Given the description of an element on the screen output the (x, y) to click on. 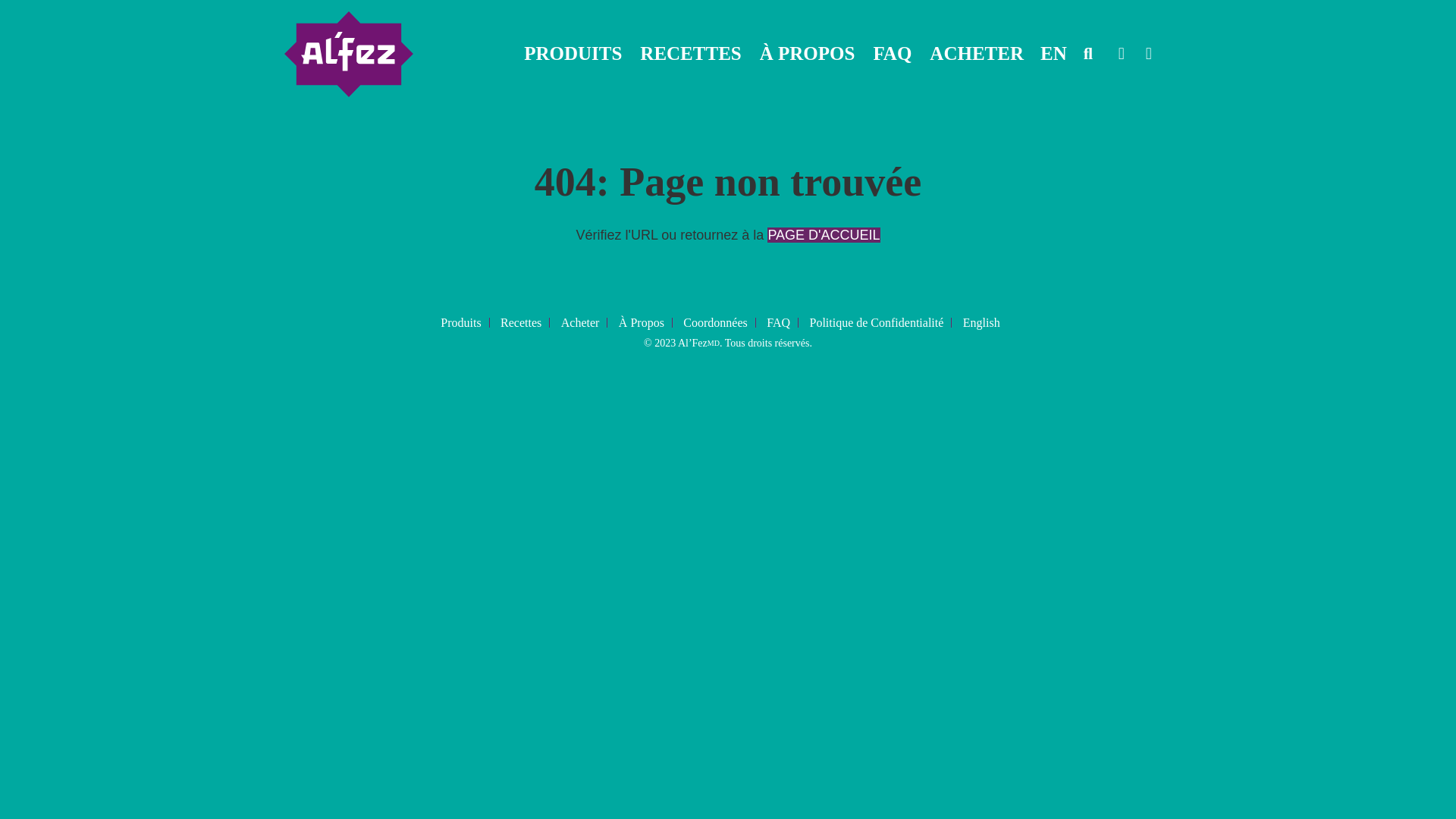
FAQ Element type: text (782, 322)
Acheter Element type: text (584, 322)
RECETTES Element type: text (689, 53)
PRODUITS Element type: text (572, 53)
English Element type: text (985, 322)
PAGE D'ACCUEIL Element type: text (823, 234)
EN Element type: text (1053, 53)
FAQ Element type: text (891, 53)
Al'Fez Canada Element type: hover (348, 54)
Recettes Element type: text (524, 322)
Produits Element type: text (464, 322)
ACHETER Element type: text (976, 53)
